Given the description of an element on the screen output the (x, y) to click on. 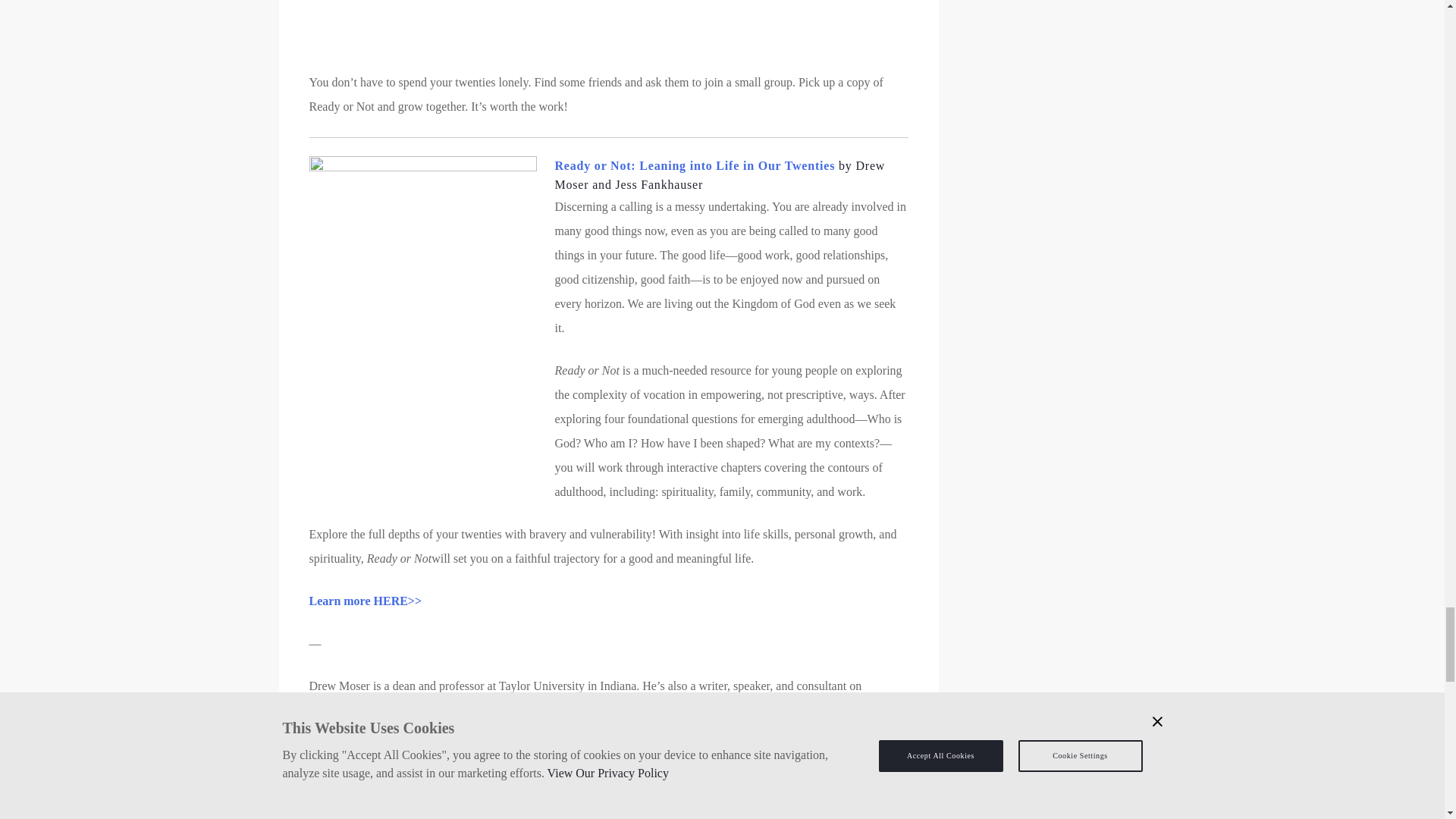
Ready or Not: Leaning into Life in Our Twenties (636, 709)
www.drewmoser.com (618, 734)
Ready or Not: Leaning into Life in Our Twenties (694, 164)
